Given the description of an element on the screen output the (x, y) to click on. 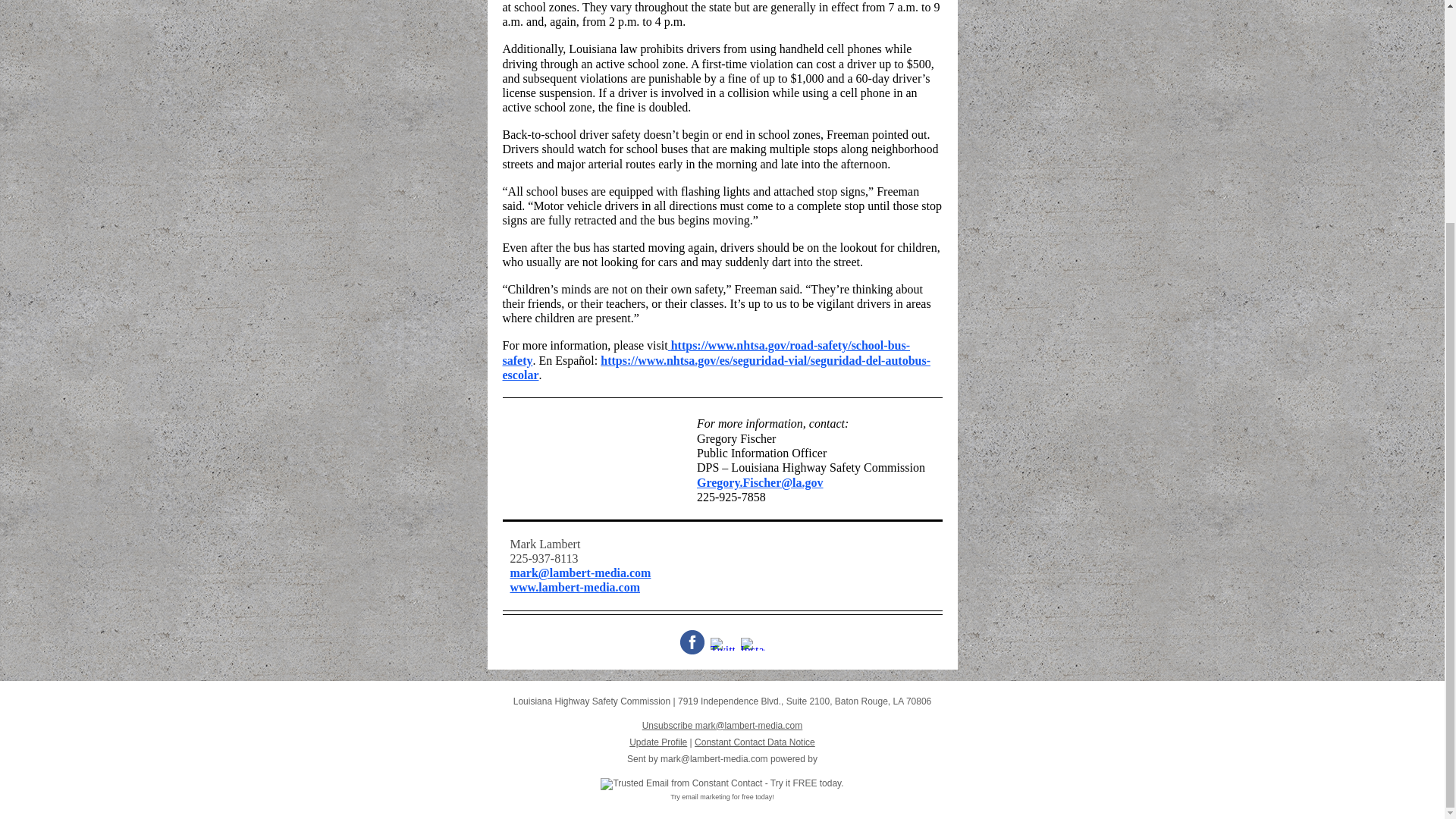
Constant Contact Data Notice (754, 742)
Update Profile (657, 742)
Try email marketing for free today! (721, 796)
www.lambert-media.com (574, 586)
